Given the description of an element on the screen output the (x, y) to click on. 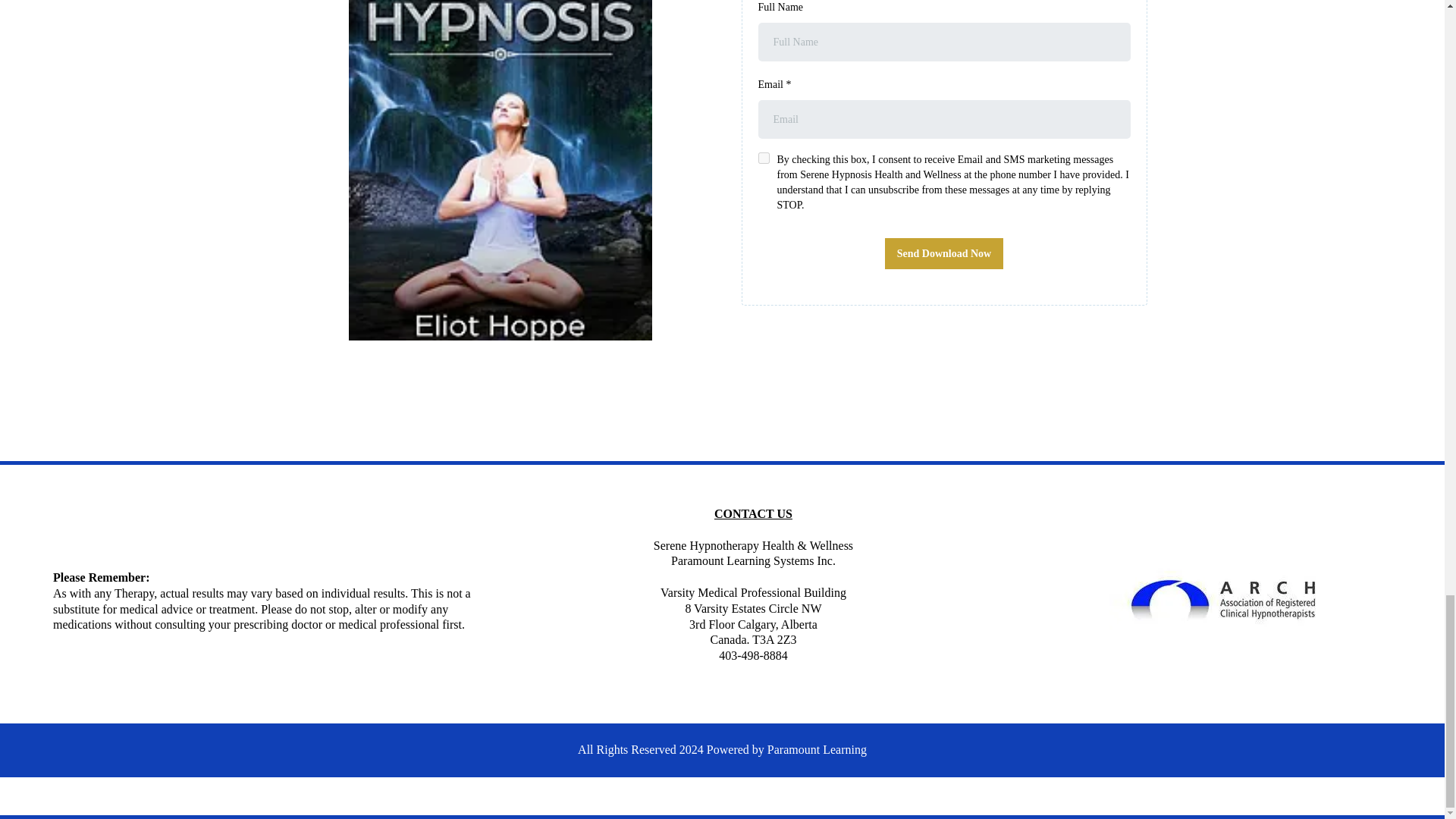
Send Download Now (944, 253)
